Given the description of an element on the screen output the (x, y) to click on. 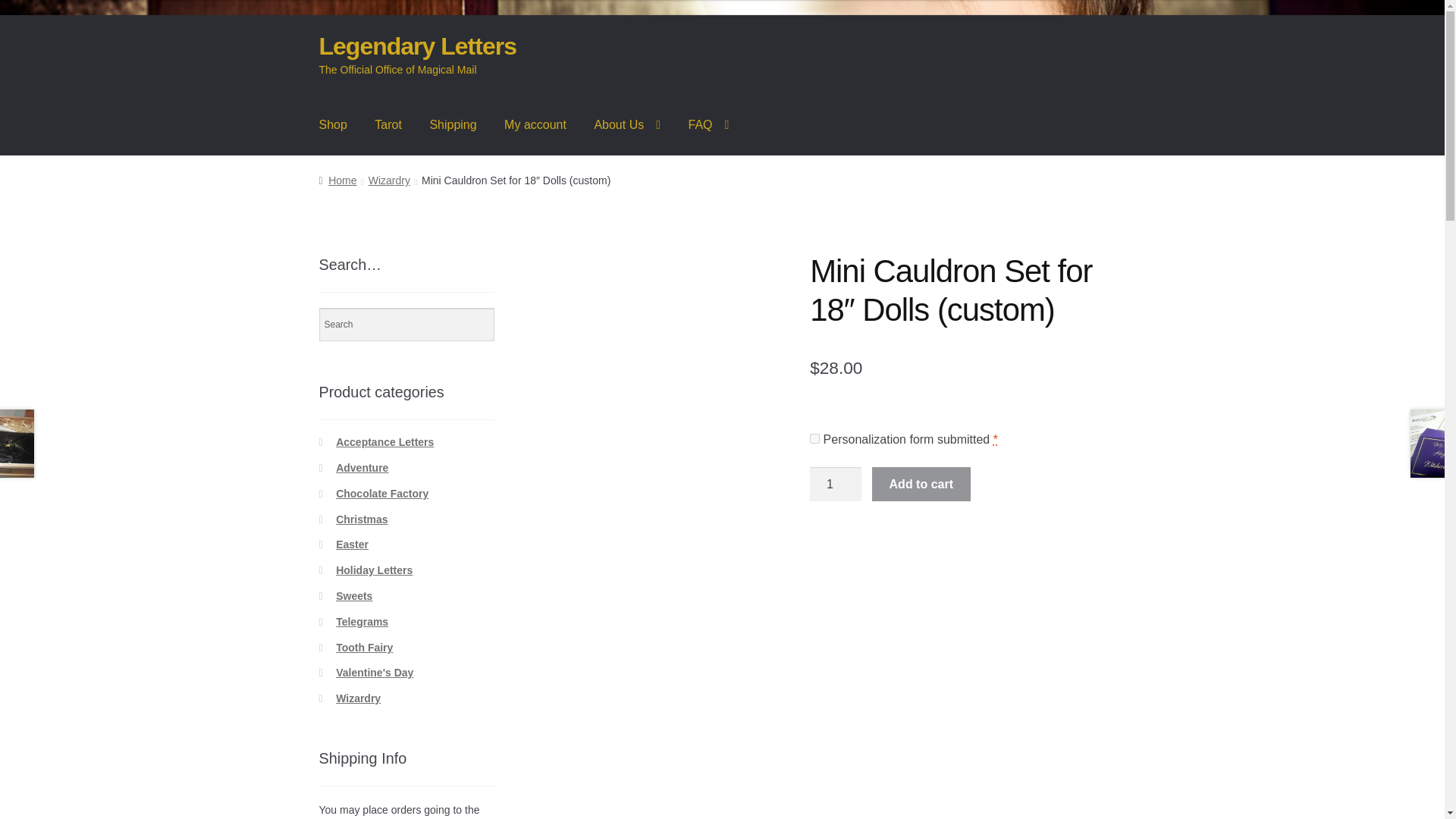
Shipping (451, 124)
1 (835, 484)
FAQ (708, 124)
1 (814, 438)
My account (535, 124)
Legendary Letters (417, 45)
About Us (626, 124)
